Given the description of an element on the screen output the (x, y) to click on. 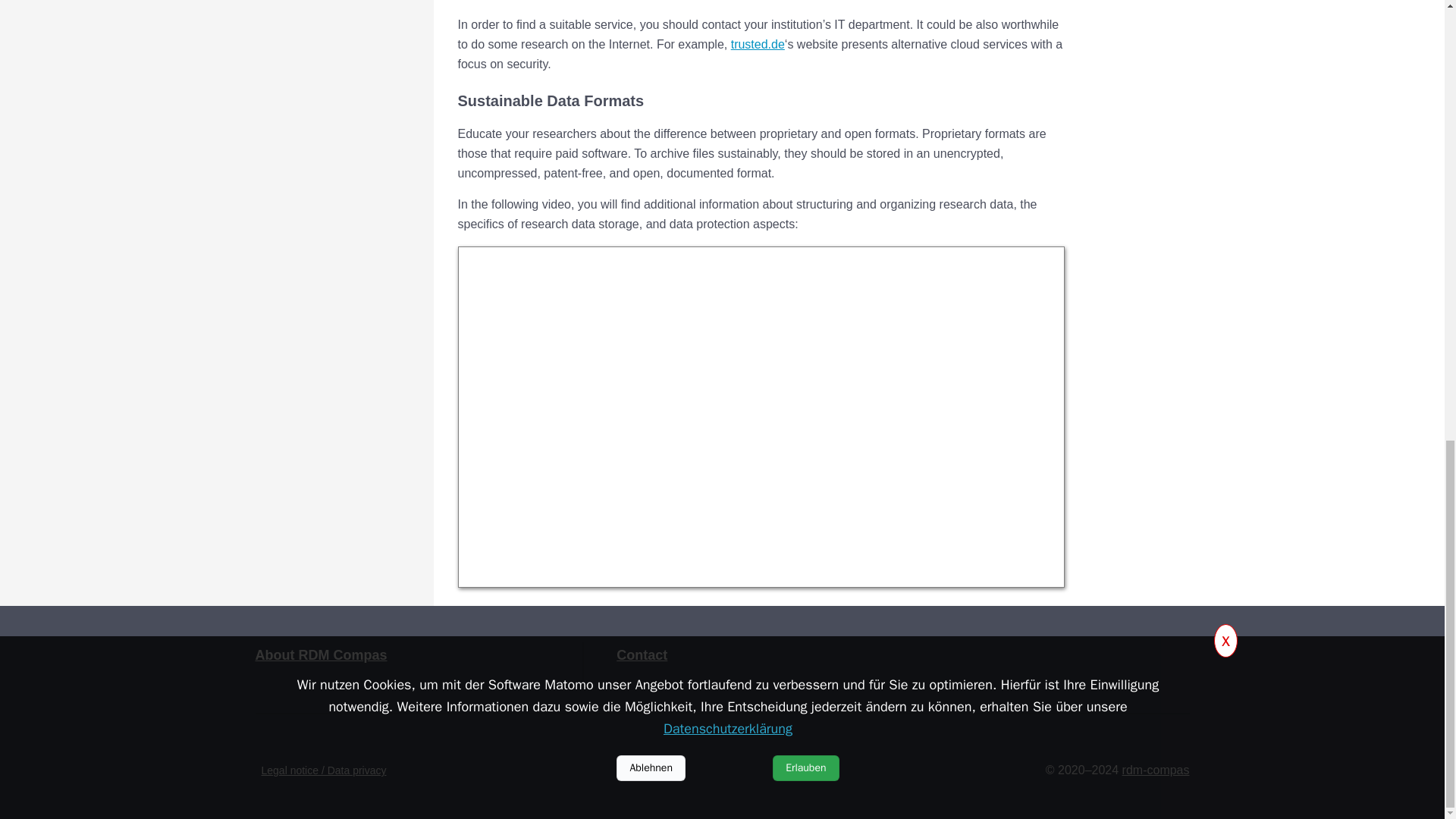
Back to homepage (1155, 769)
